Given the description of an element on the screen output the (x, y) to click on. 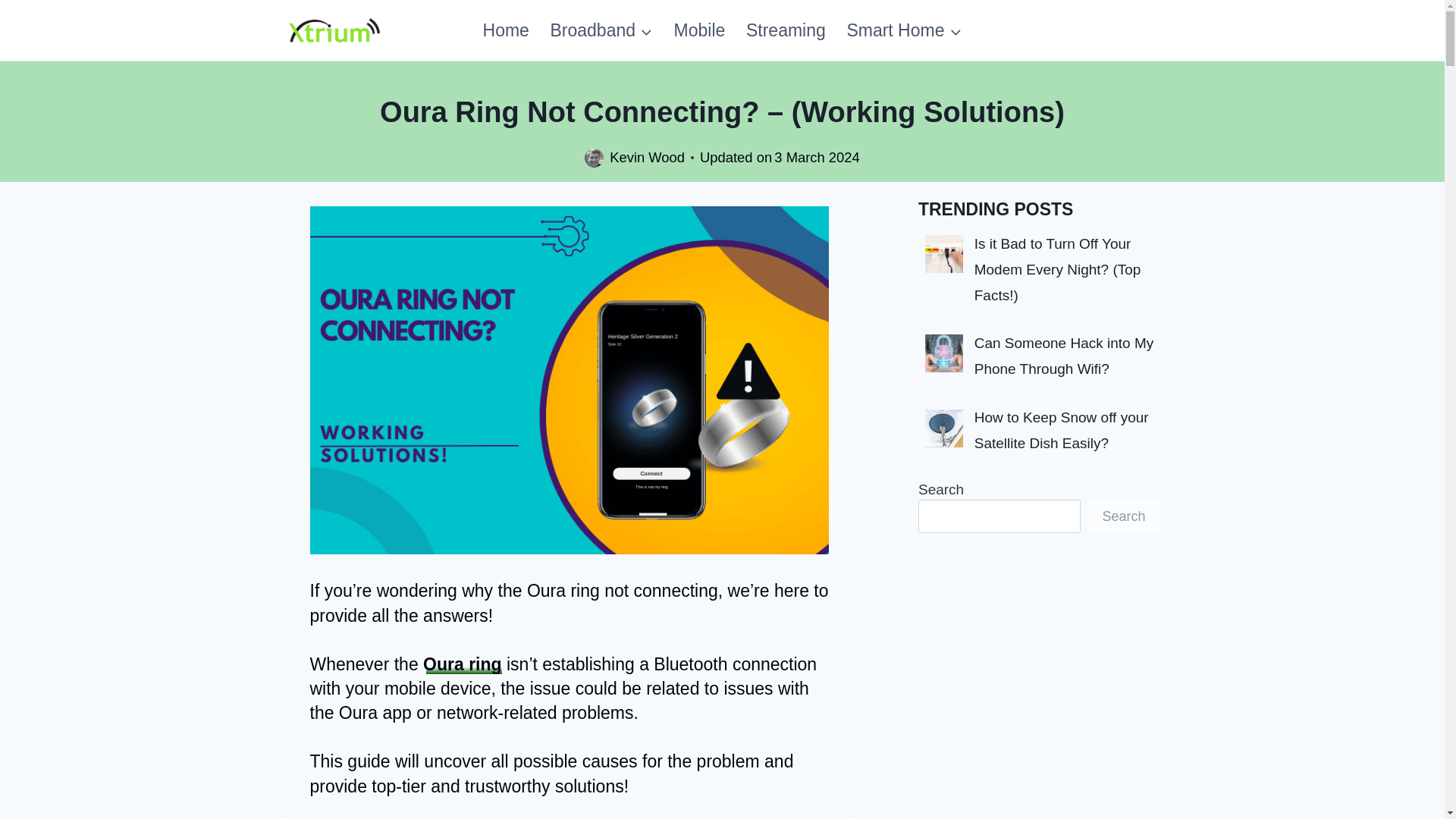
Kevin Wood (647, 157)
Mobile (699, 30)
Can Someone Hack into My Phone Through Wifi? (1064, 355)
Smart Home (903, 30)
Home (505, 30)
Broadband (601, 30)
Can Someone Hack into My Phone Through Wifi? 14 (943, 353)
Streaming (785, 30)
How to Keep Snow off your Satellite Dish Easily? (1061, 430)
Search (1122, 516)
Oura ring (462, 664)
